Given the description of an element on the screen output the (x, y) to click on. 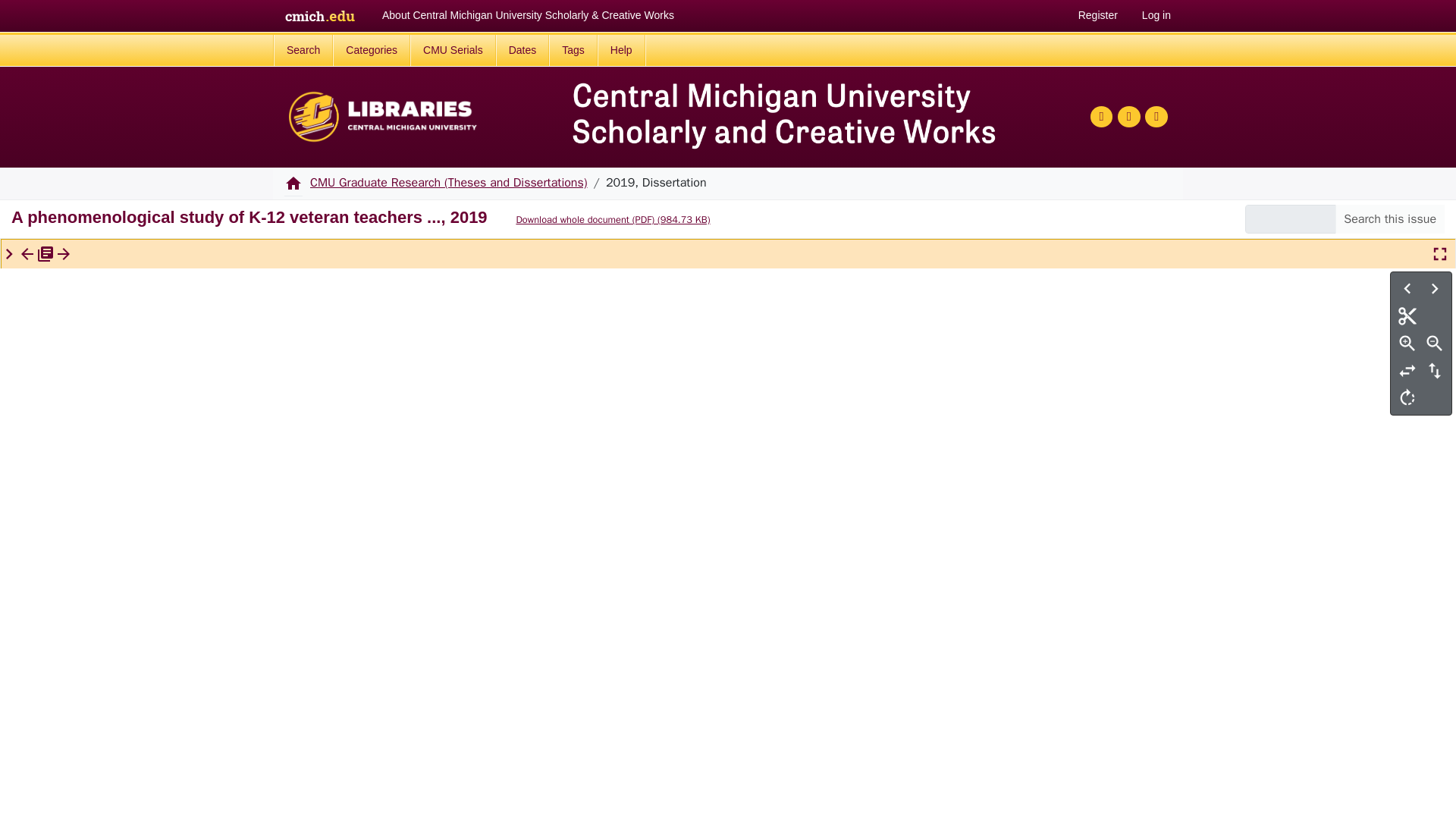
Previous page (1407, 288)
Previous document (26, 253)
Zoom in (1407, 343)
Next page (1434, 288)
Download PDF (603, 219)
Browse all documents of this publication (45, 253)
Next document (63, 253)
Help (620, 50)
Next document (63, 253)
CMU Serials (453, 50)
Search this issue (1389, 218)
Zoom in (1407, 343)
Log in (1155, 15)
Previous document (26, 253)
Fit to height (1434, 370)
